Given the description of an element on the screen output the (x, y) to click on. 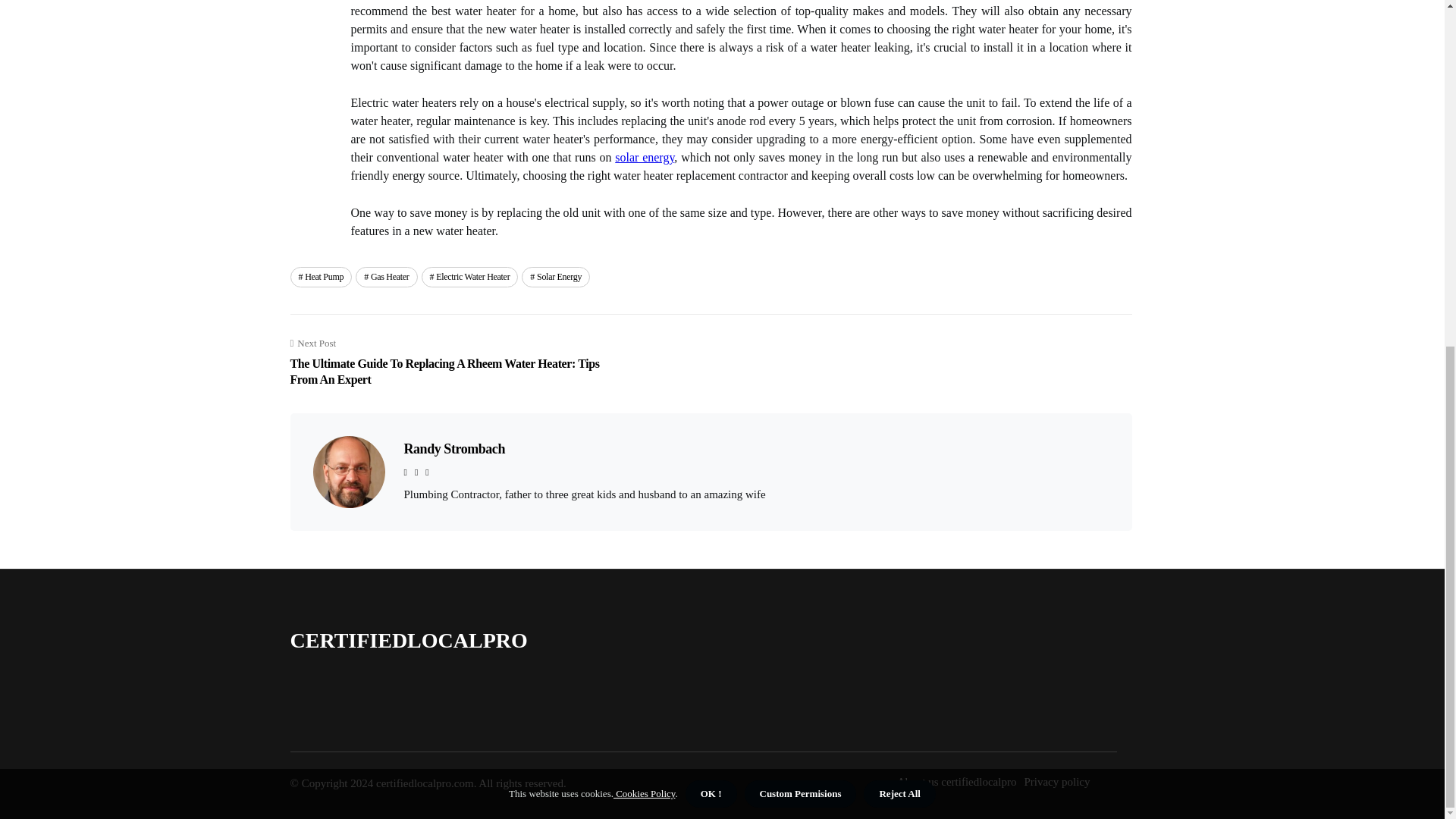
Gas Heater (385, 276)
Randy Strombach (453, 448)
Solar Energy (555, 276)
solar energy (644, 156)
Electric Water Heater (470, 276)
Heat Pump (320, 276)
